Given the description of an element on the screen output the (x, y) to click on. 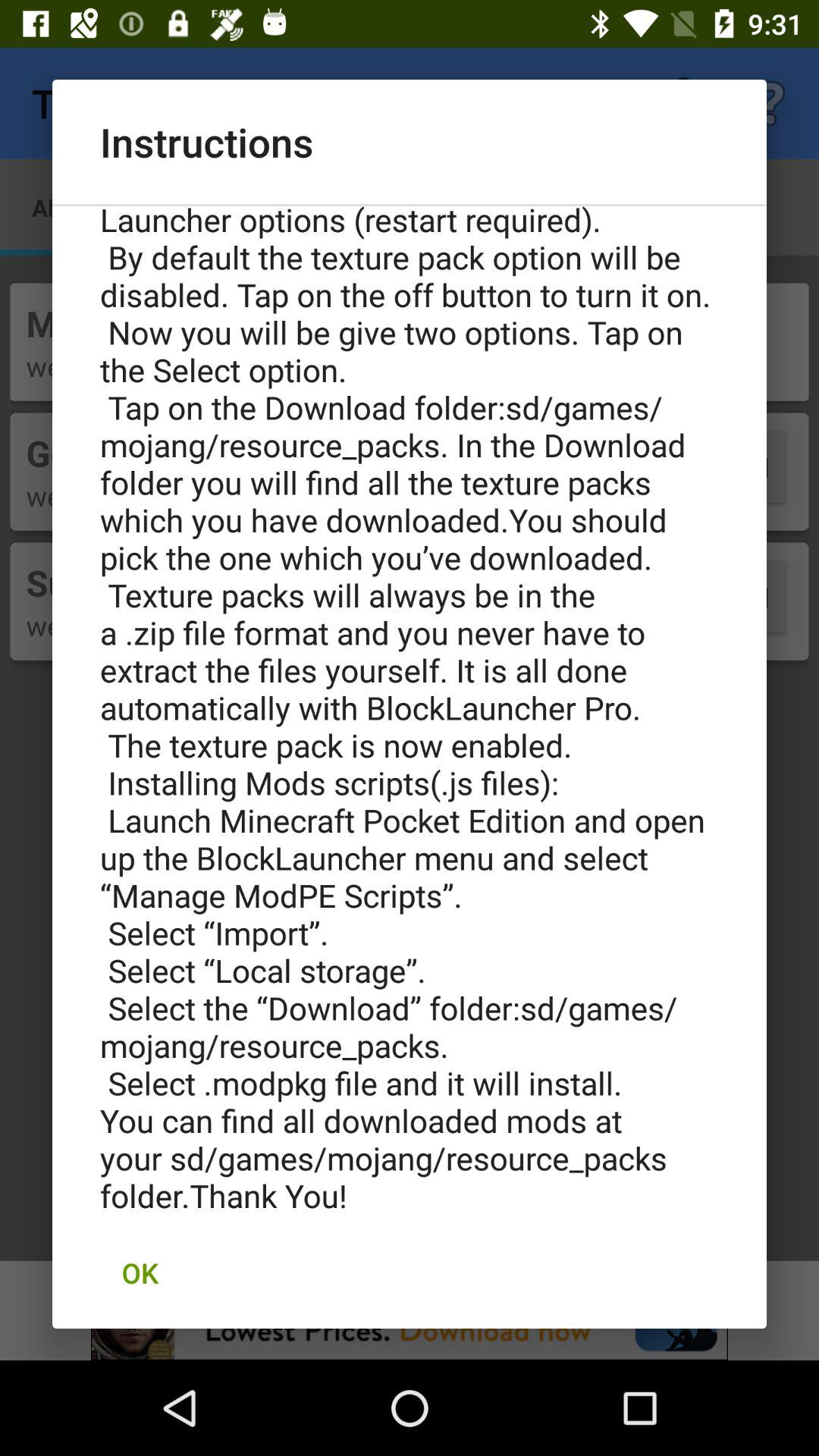
choose item below installing texture packs icon (139, 1272)
